Given the description of an element on the screen output the (x, y) to click on. 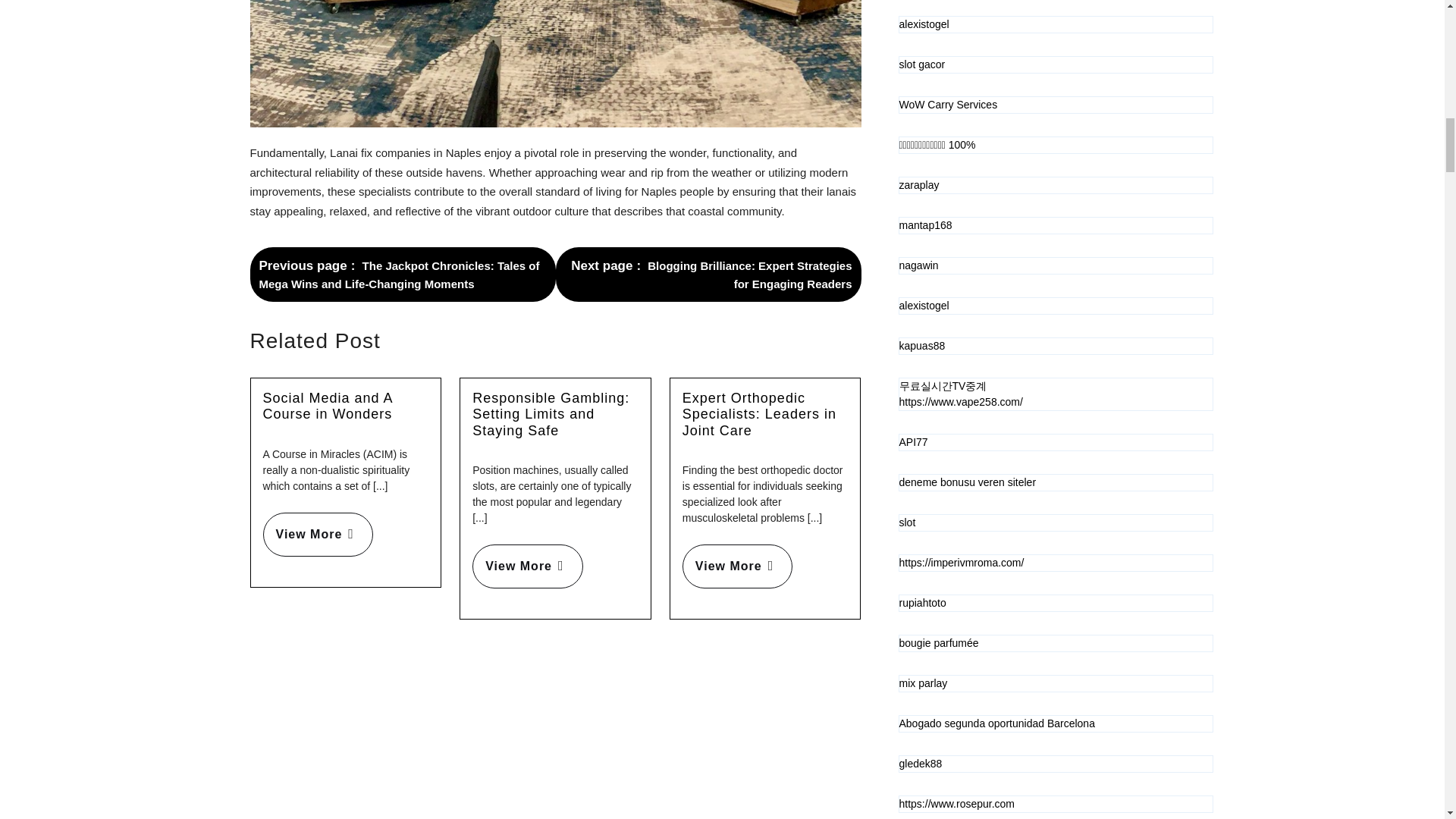
Social Media and A Course in Wonders (326, 406)
Expert Orthopedic Specialists: Leaders in Joint Care (758, 414)
View More (526, 566)
View More (737, 566)
View More (317, 534)
Responsible Gambling: Setting Limits and Staying Safe (549, 414)
